Given the description of an element on the screen output the (x, y) to click on. 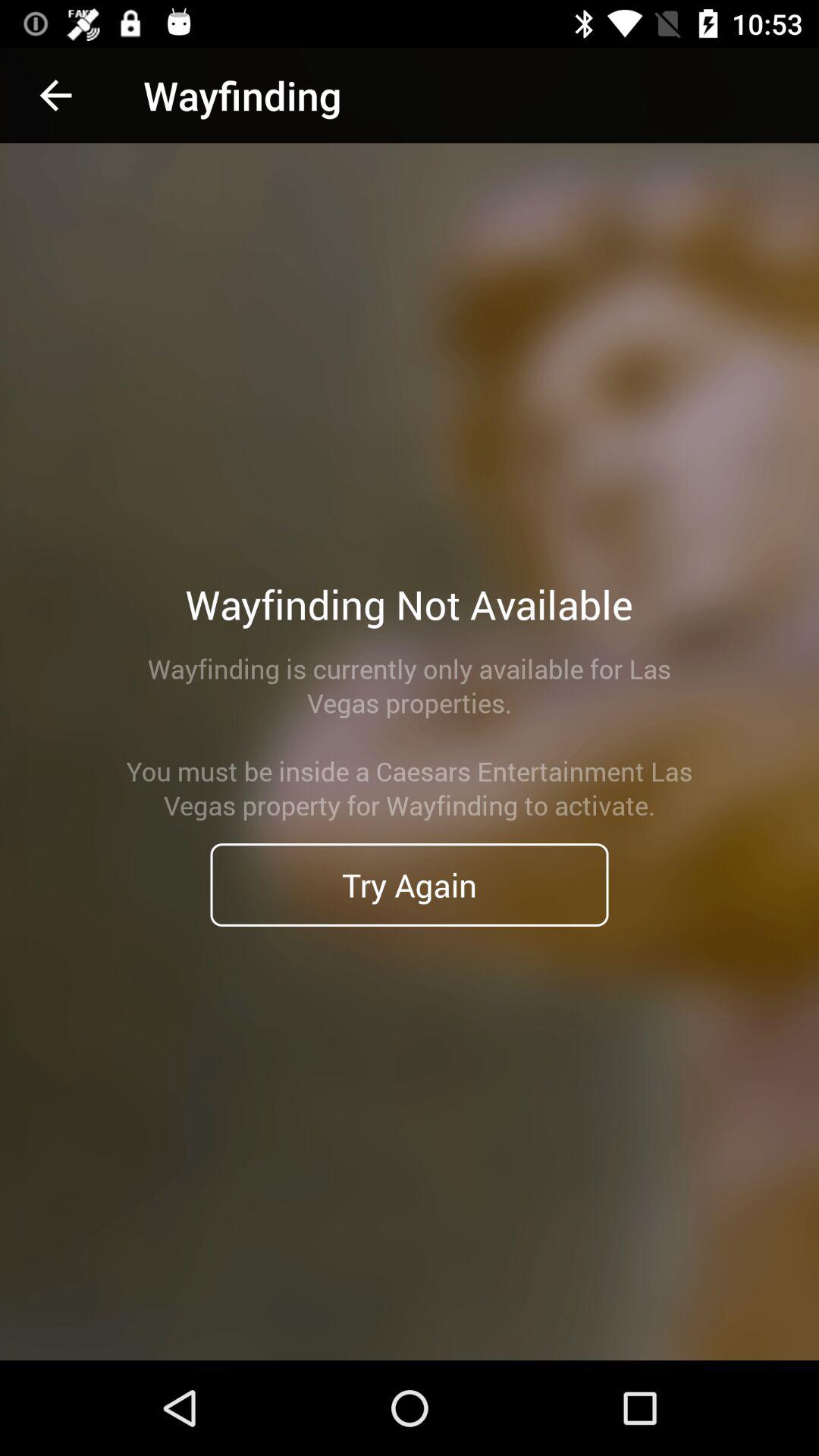
turn off item to the left of wayfinding (55, 95)
